Given the description of an element on the screen output the (x, y) to click on. 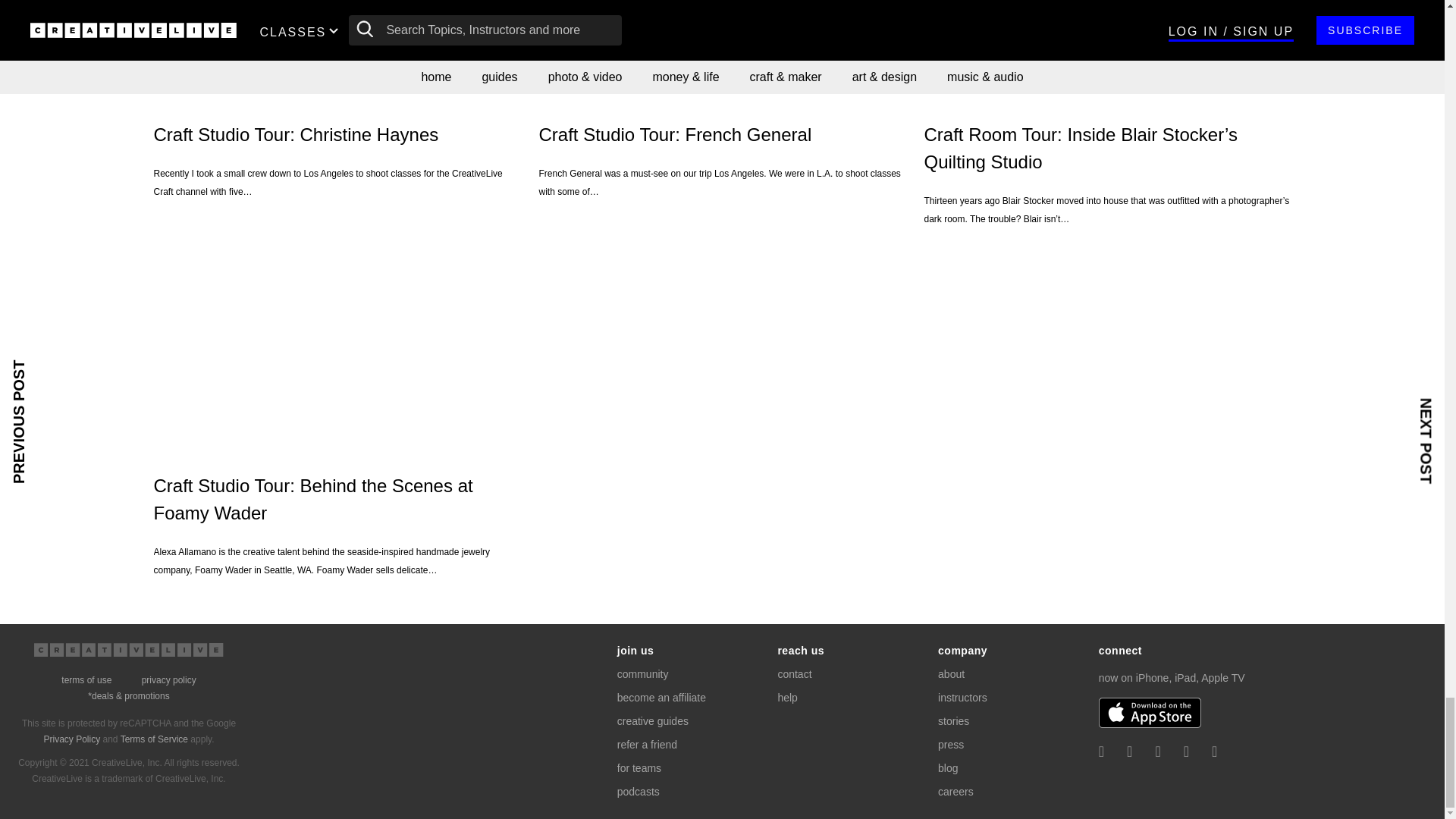
Craft Studio Tour: Christine Haynes (335, 49)
Craft Studio Tour: French General (721, 49)
Craft Studio Tour: Behind the Scenes at Foamy Wader (335, 348)
